Given the description of an element on the screen output the (x, y) to click on. 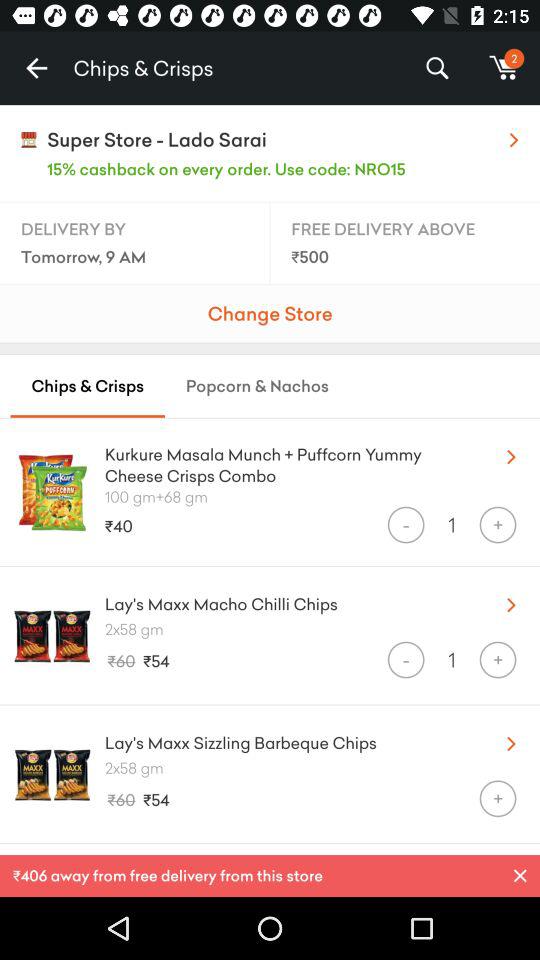
launch p (520, 875)
